Given the description of an element on the screen output the (x, y) to click on. 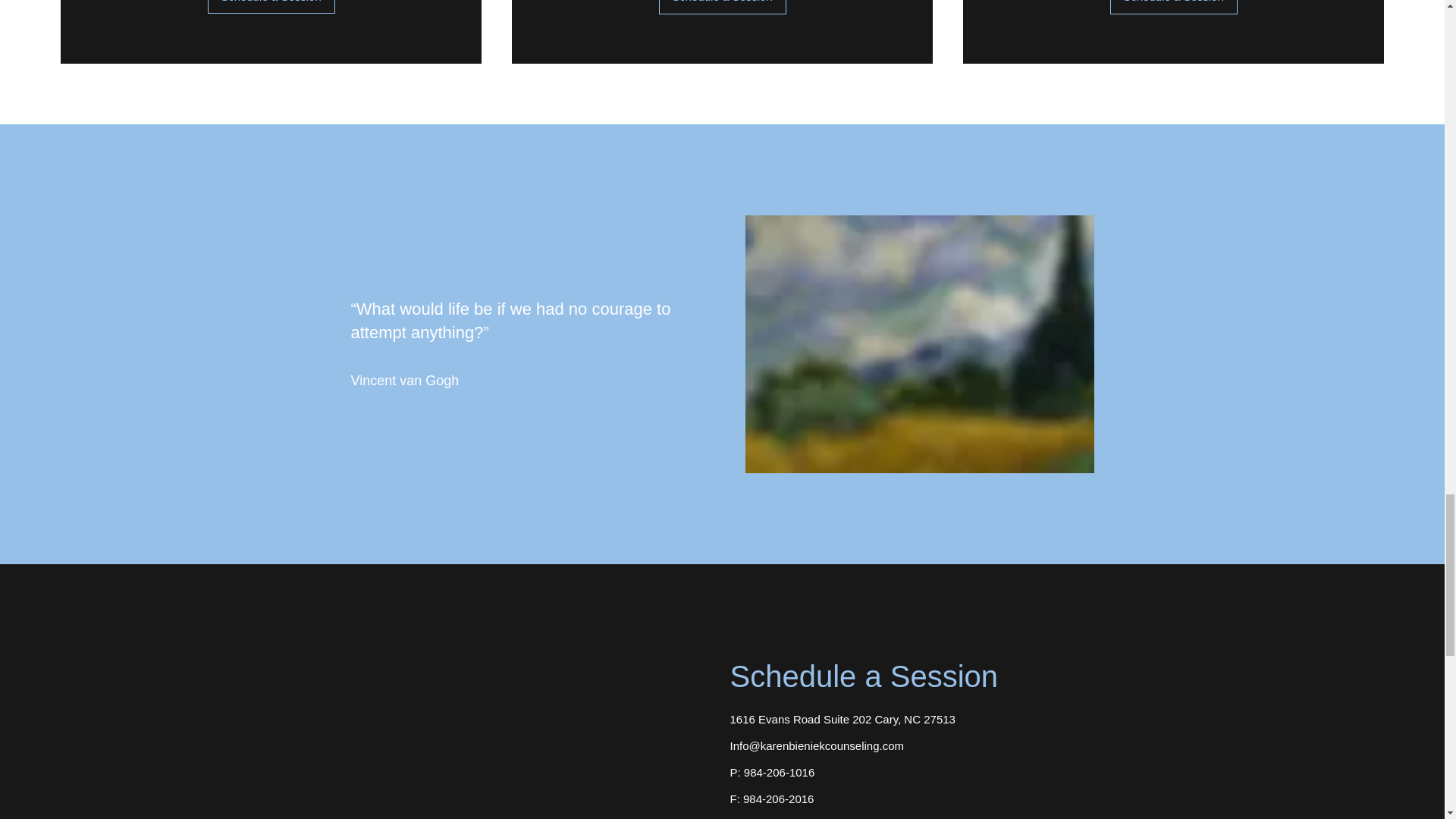
Schedule a Session (1173, 7)
Schedule a Session (722, 7)
Schedule a Session (271, 6)
